Given the description of an element on the screen output the (x, y) to click on. 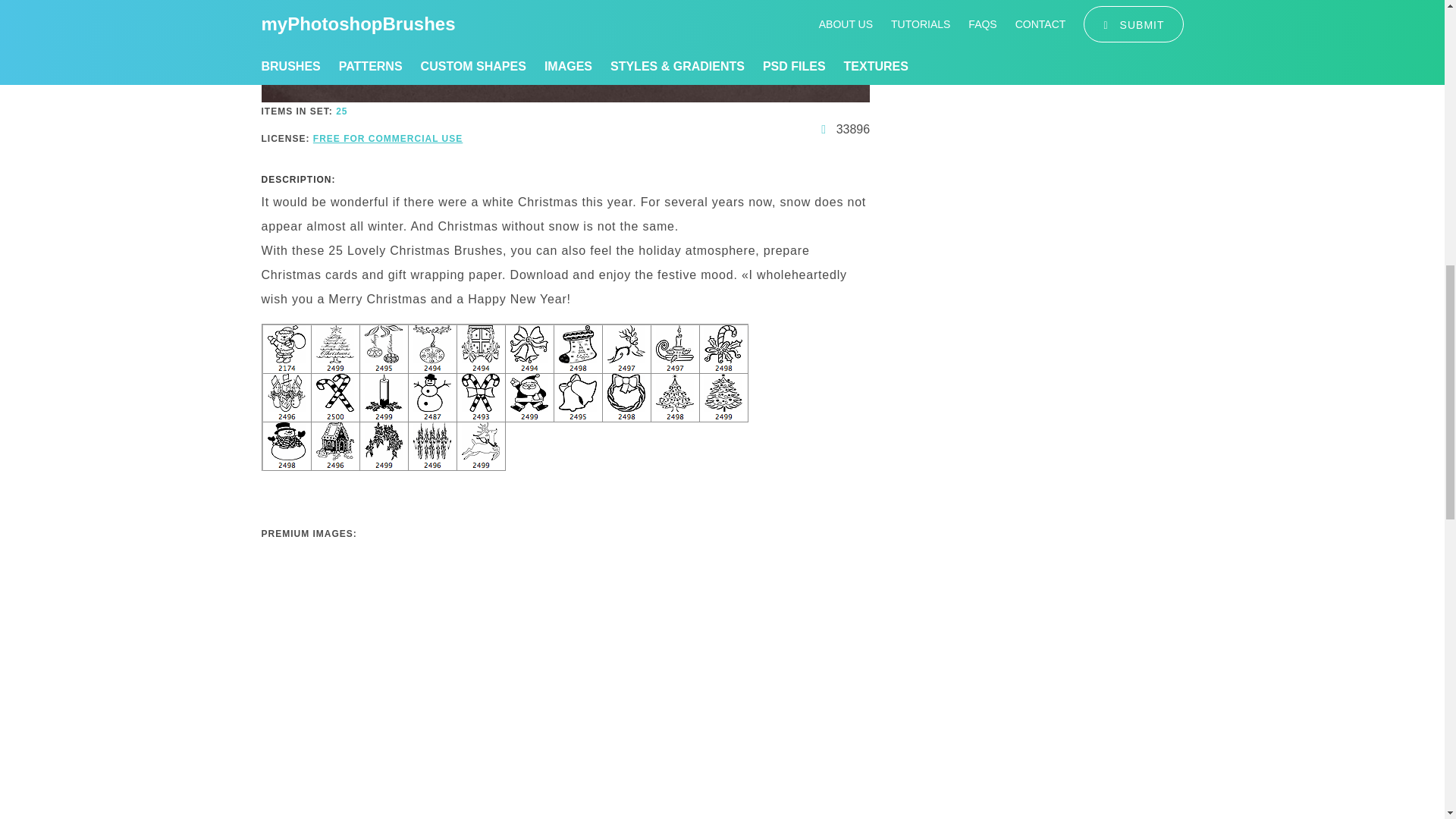
FREE FOR COMMERCIAL USE (388, 138)
